Given the description of an element on the screen output the (x, y) to click on. 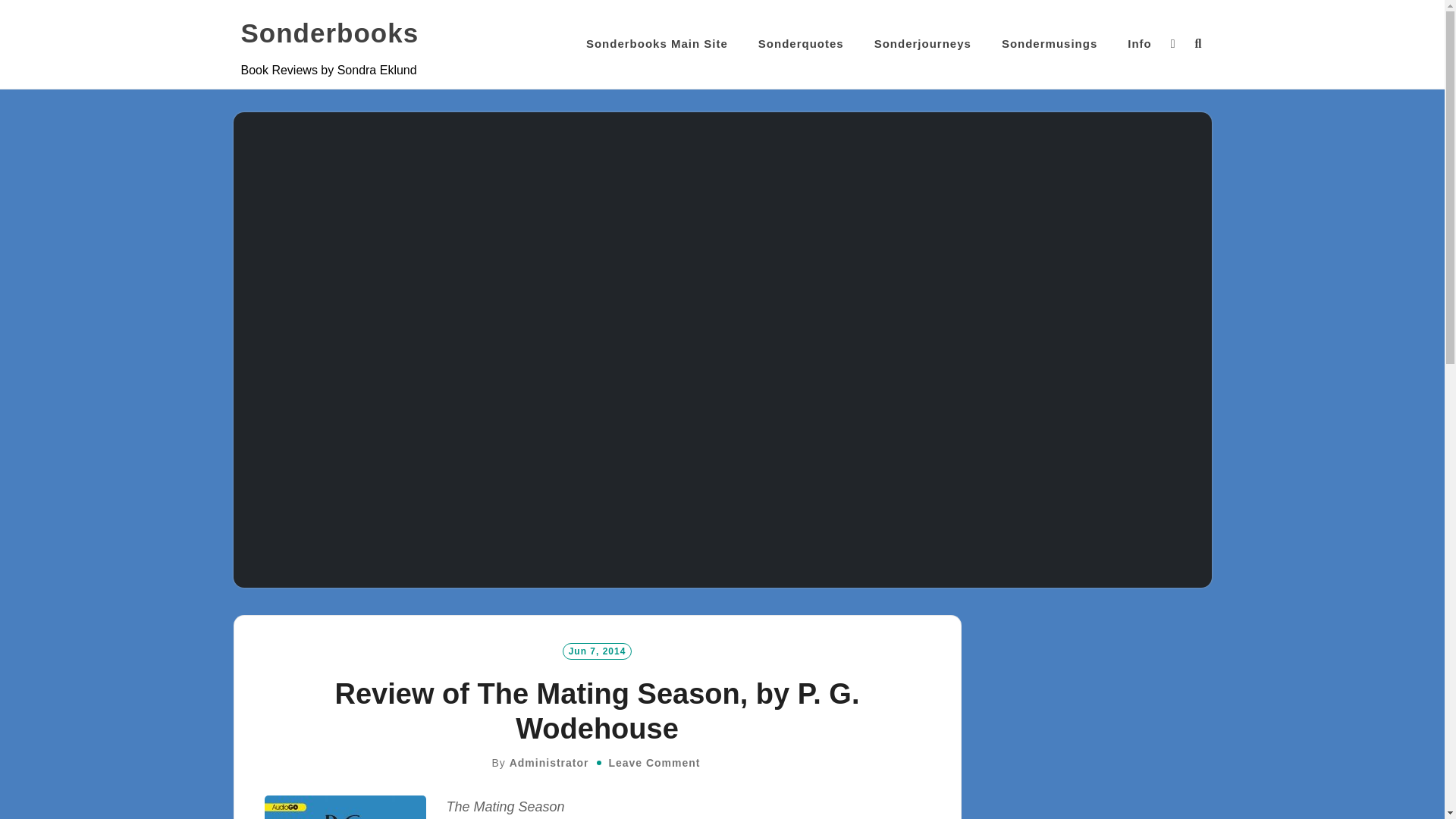
Administrator (549, 762)
Sonderbooks Main Site (657, 44)
Jun 7, 2014 (596, 651)
Sondermusings (1049, 44)
Leave Comment (654, 762)
Sonderquotes (801, 44)
Sonderjourneys (923, 44)
Sonderbooks (330, 33)
